Given the description of an element on the screen output the (x, y) to click on. 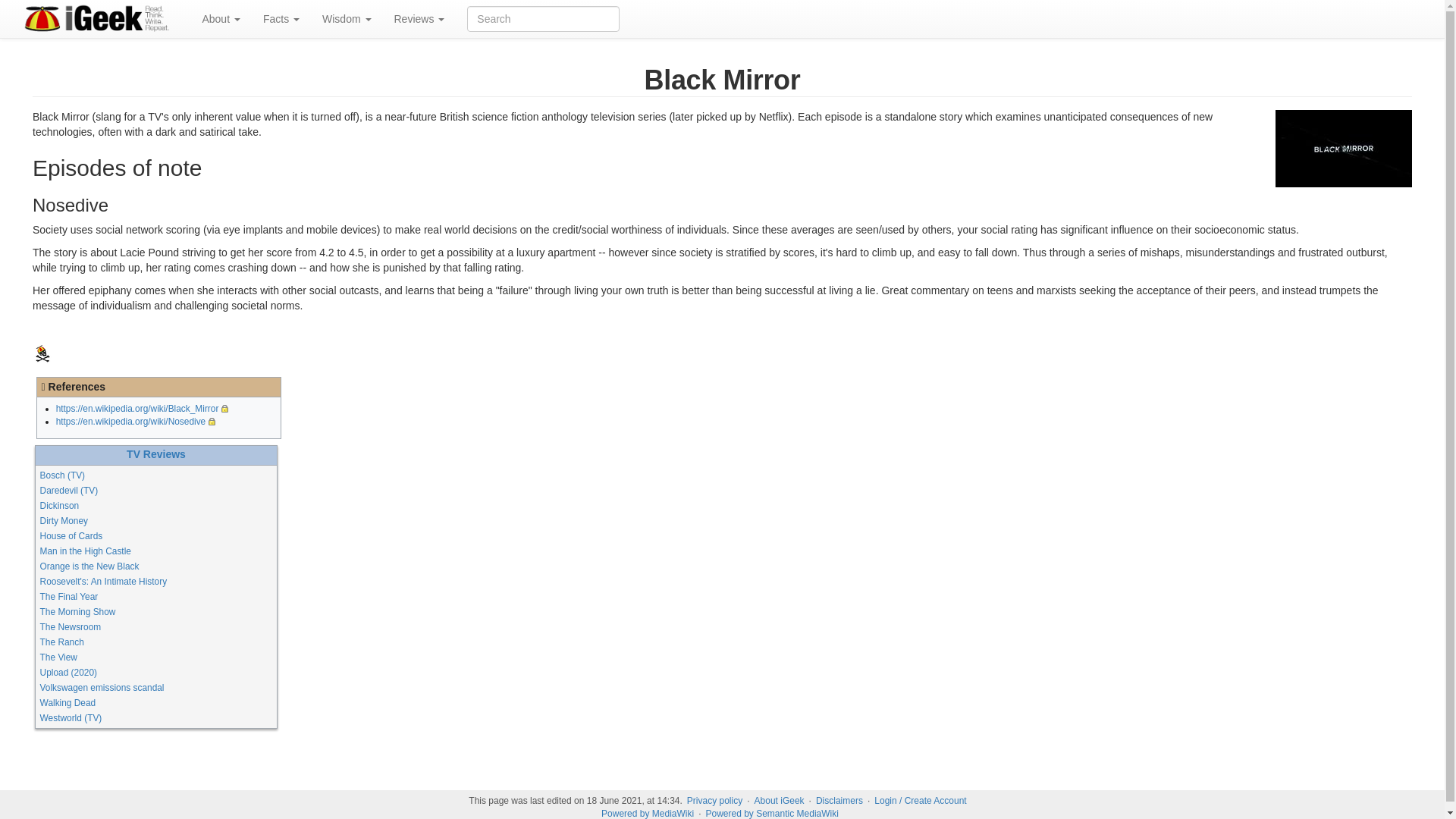
Dirty Money (63, 520)
Wisdom (346, 18)
Main Page (42, 354)
Man in the High Castle (85, 551)
TV Reviews (156, 453)
Dickinson (60, 505)
House of Cards (71, 535)
The Ranch (62, 642)
Reviews (418, 18)
The Final Year (69, 596)
The Morning Show (78, 611)
The Newsroom (70, 626)
Facts (281, 18)
Roosevelt's: An Intimate History (103, 581)
About (220, 18)
